Given the description of an element on the screen output the (x, y) to click on. 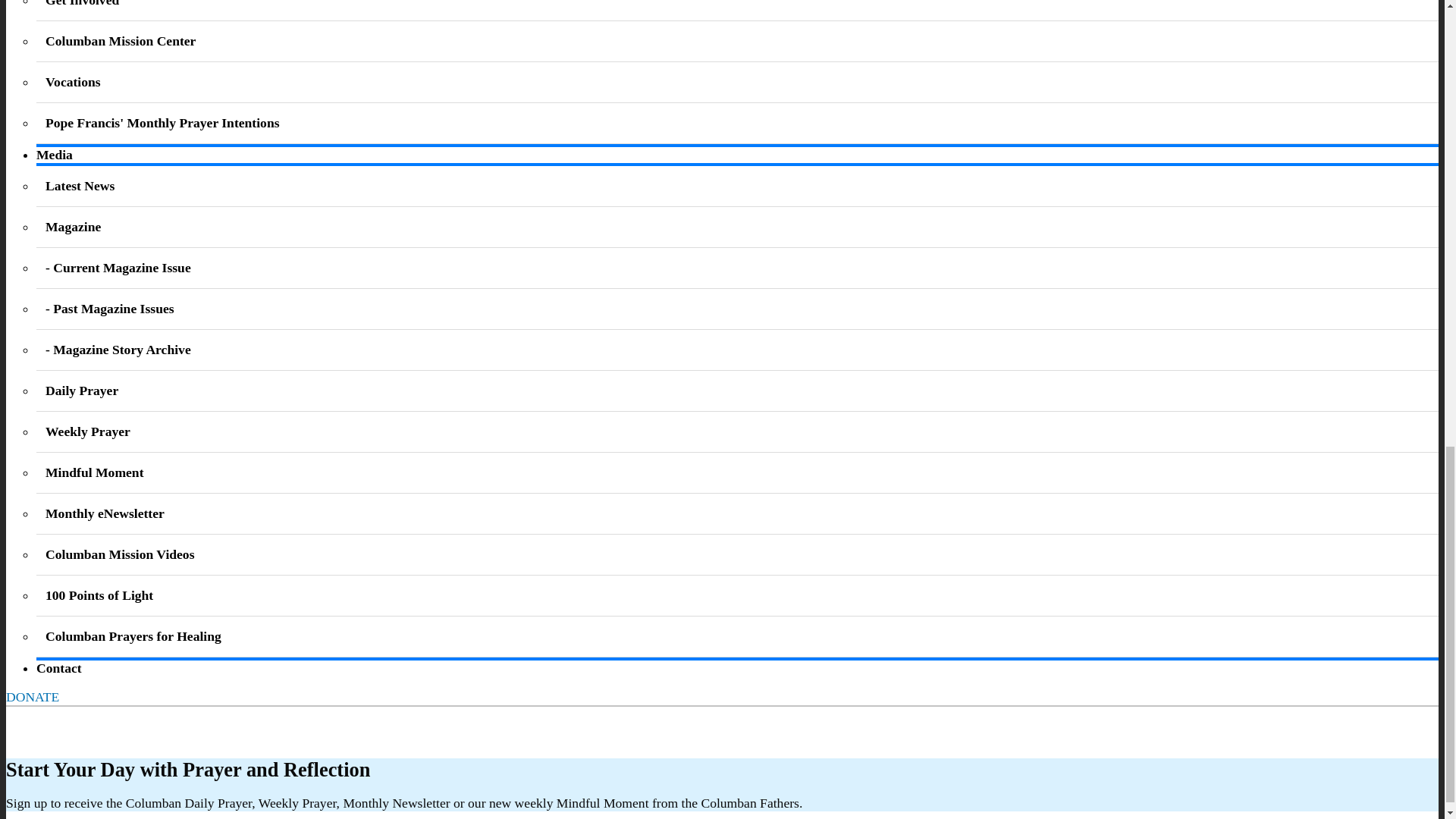
Latest News (80, 185)
Magazine (72, 226)
Media (54, 154)
Pope Francis' Monthly Prayer Intentions (162, 122)
Get Involved (82, 3)
- Past Magazine Issues (109, 308)
Columban Mission Center (120, 40)
- Current Magazine Issue (117, 267)
Vocations (72, 81)
